Given the description of an element on the screen output the (x, y) to click on. 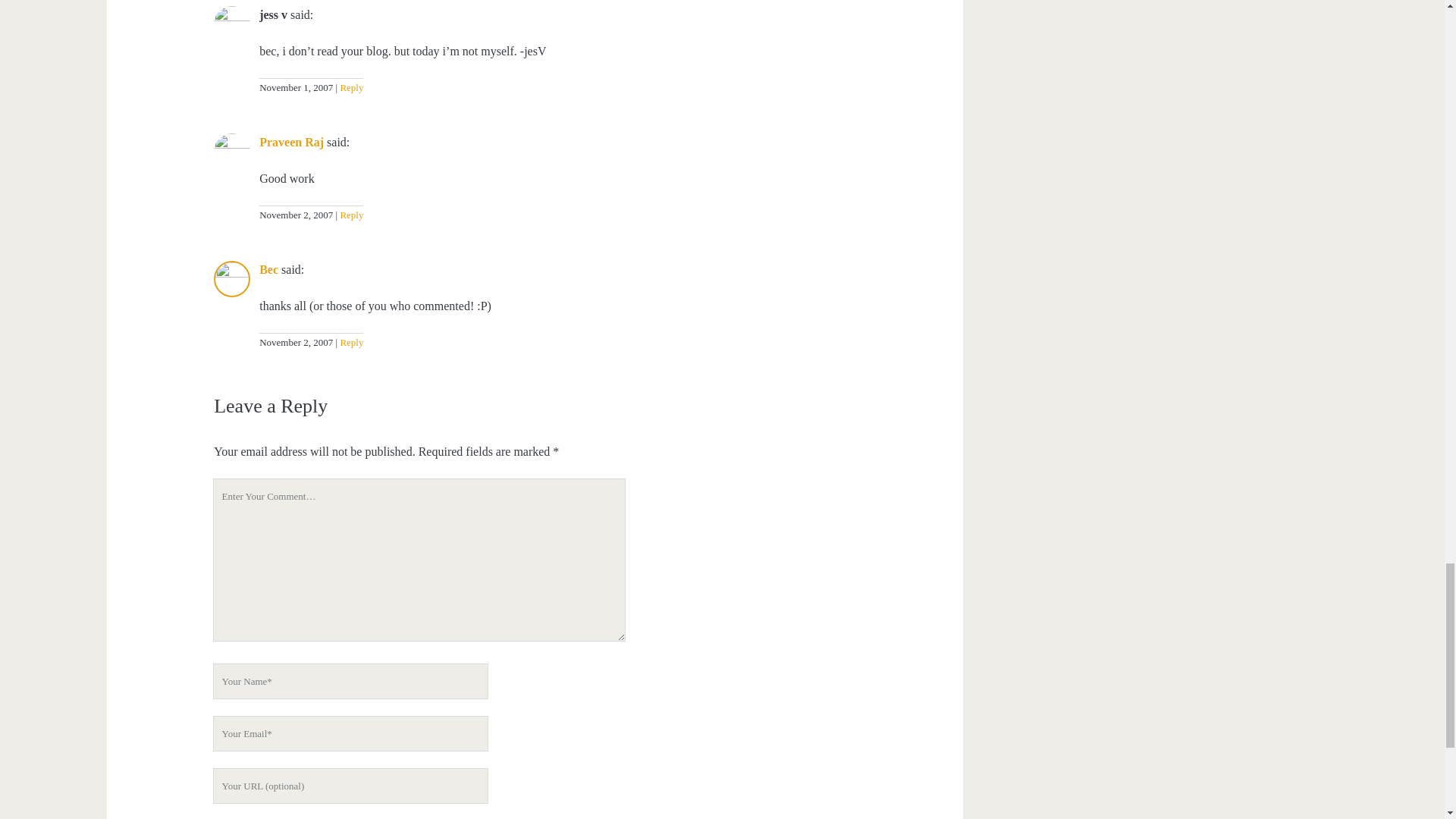
Reply (350, 87)
Praveen Raj (291, 141)
Reply (350, 214)
